Given the description of an element on the screen output the (x, y) to click on. 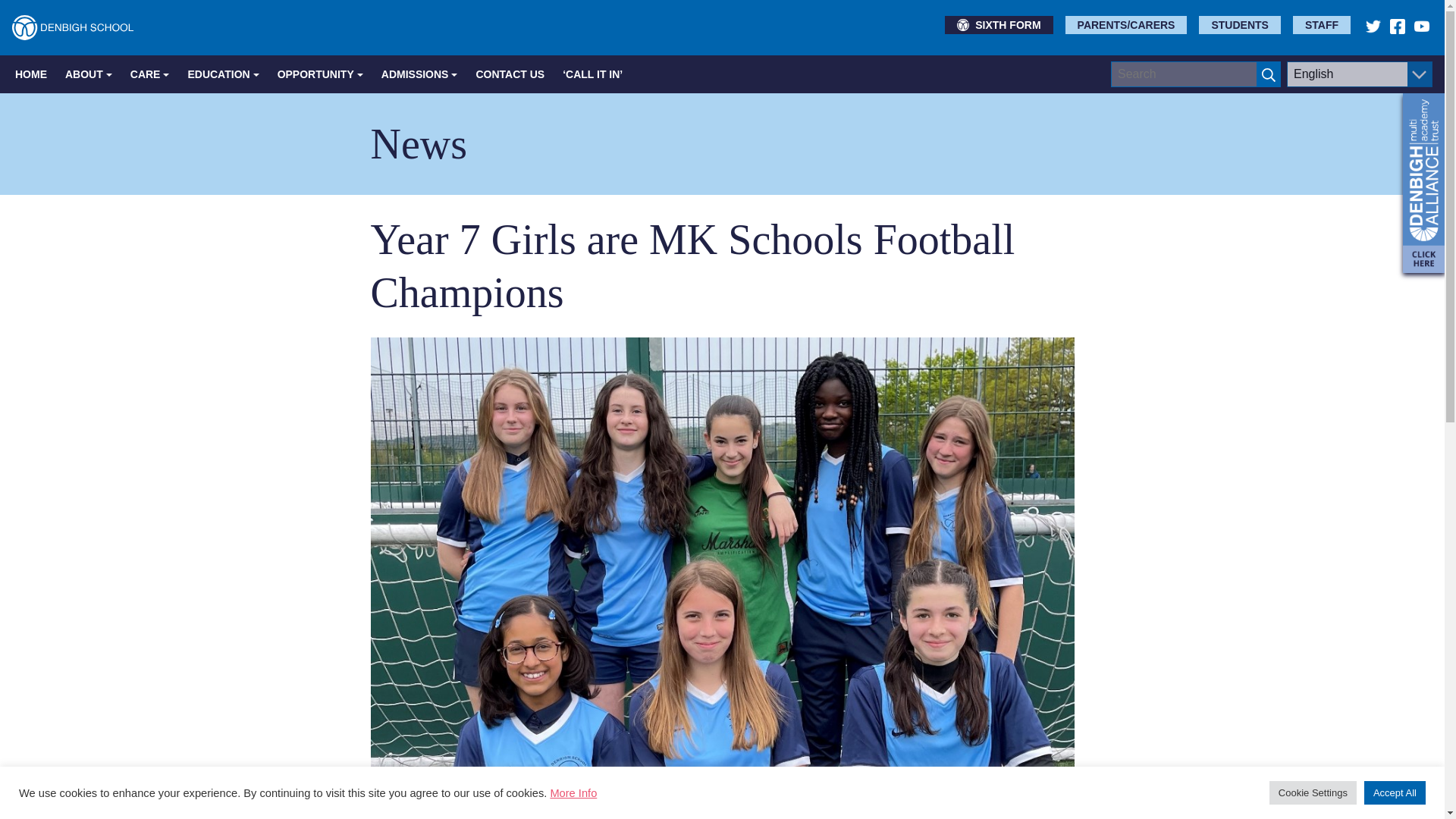
SIXTH FORM (998, 24)
STUDENTS (1238, 24)
ABOUT (88, 74)
STAFF (1321, 24)
EDUCATION (223, 74)
CARE (150, 74)
HOME (30, 74)
